Given the description of an element on the screen output the (x, y) to click on. 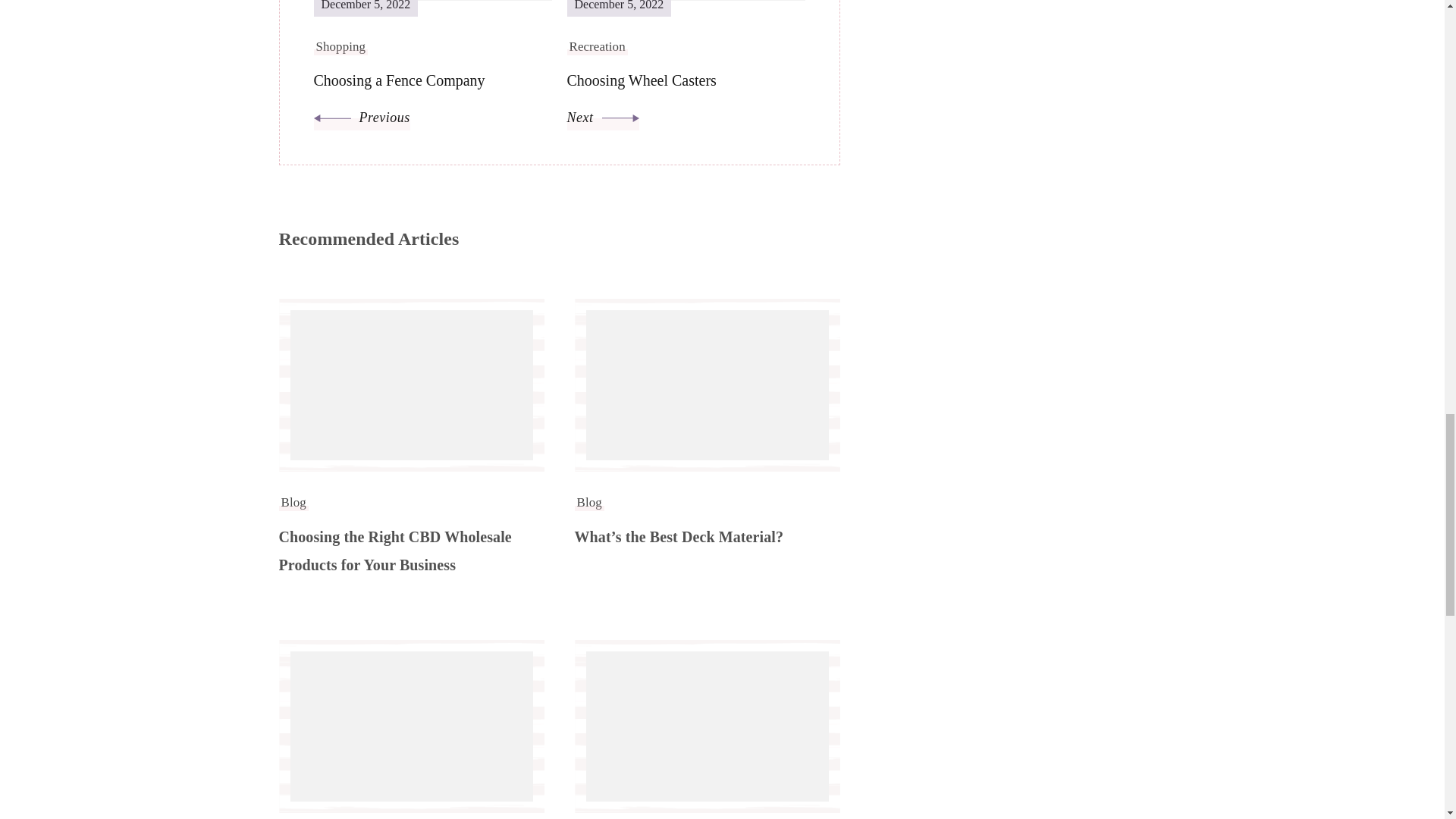
Blog (293, 502)
Choosing the Right CBD Wholesale Products for Your Business (686, 65)
